Given the description of an element on the screen output the (x, y) to click on. 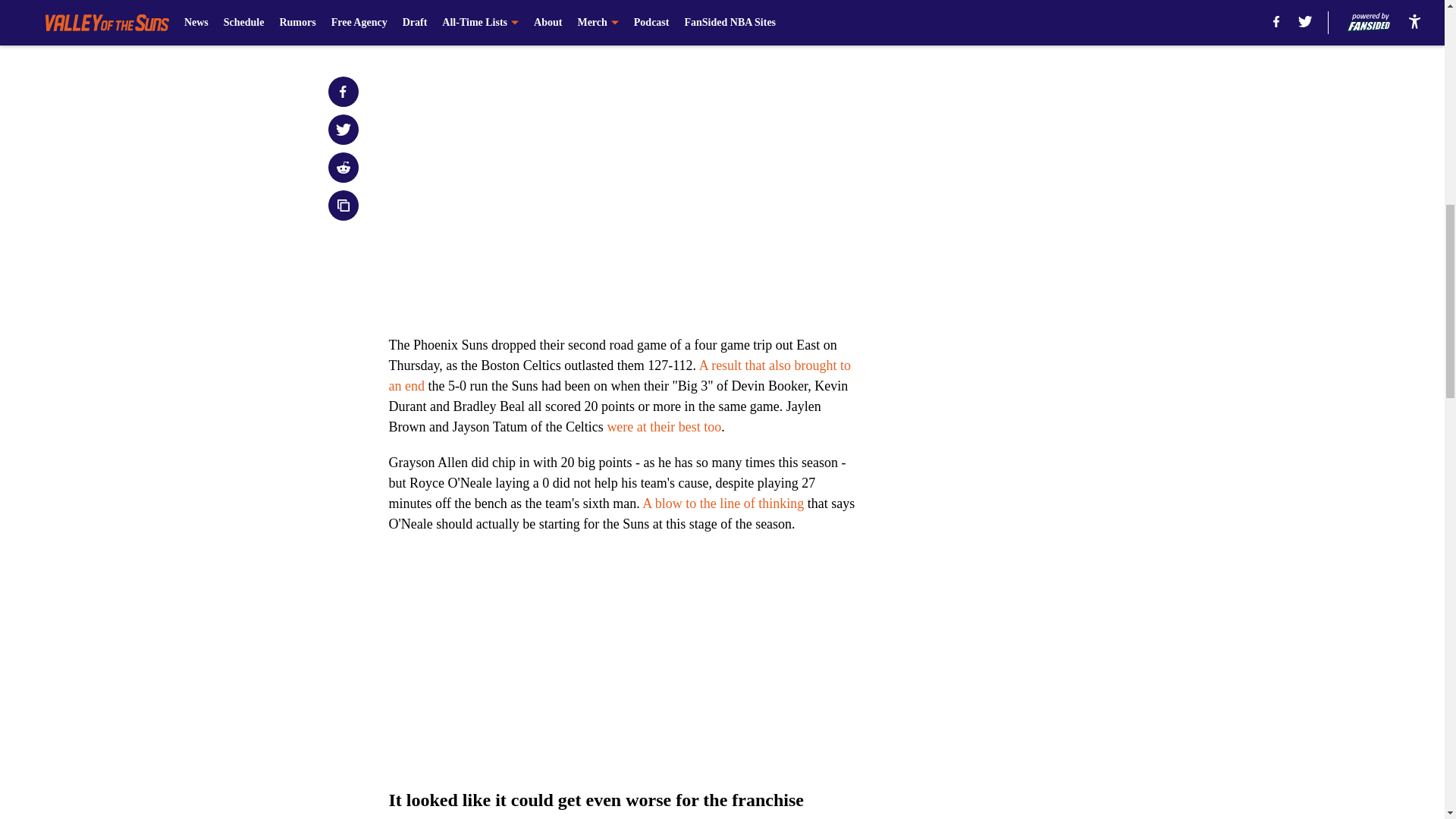
were at their best too (663, 426)
A result that also brought to an end (619, 375)
A blow to the line of thinking (722, 503)
